Given the description of an element on the screen output the (x, y) to click on. 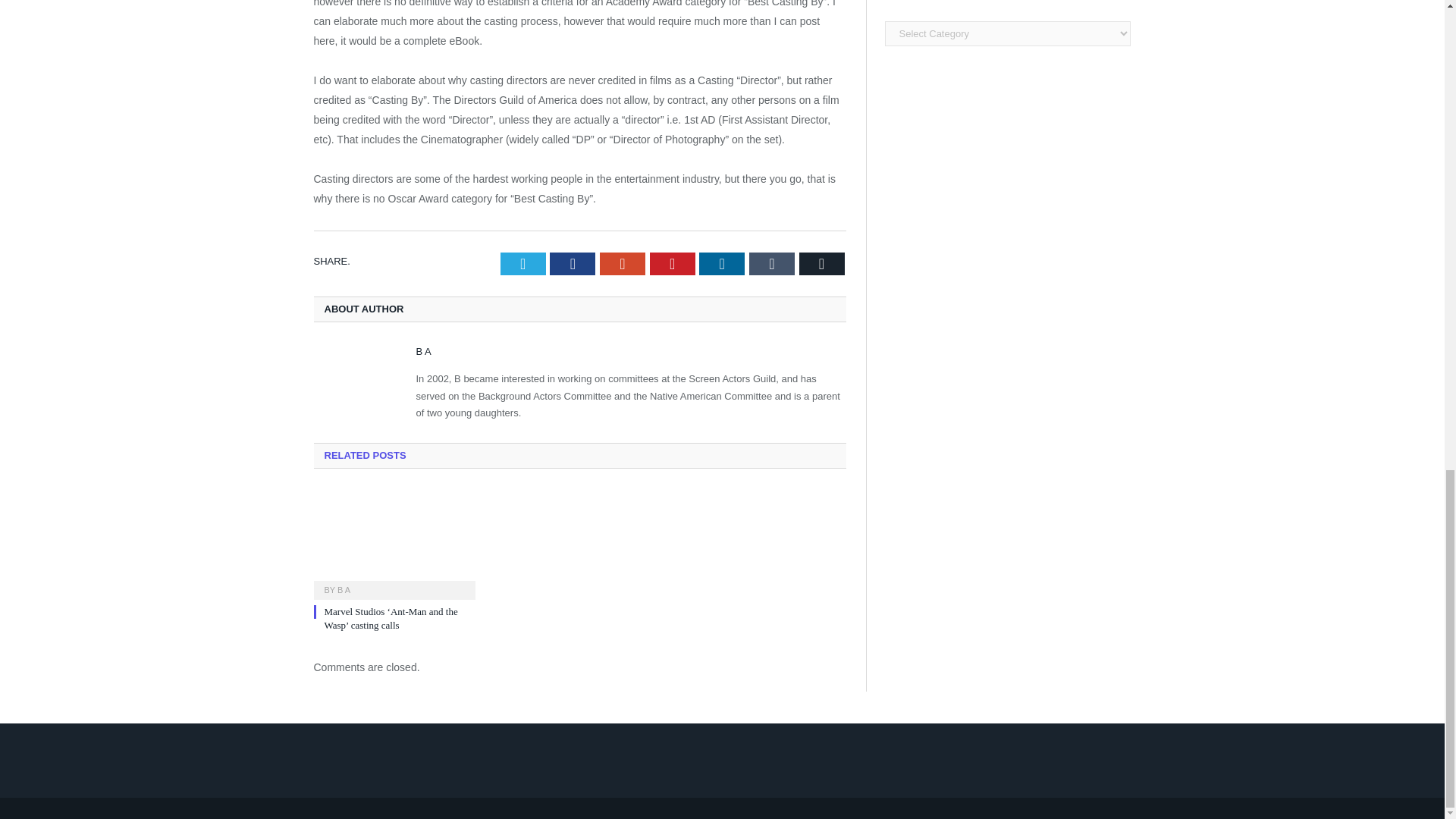
Posts by B A (422, 351)
Pinterest (672, 263)
Twitter (523, 263)
B A (343, 589)
LinkedIn (721, 263)
Tumblr (771, 263)
Facebook (572, 263)
Email (821, 263)
B A (422, 351)
Posts by B A (343, 589)
